Given the description of an element on the screen output the (x, y) to click on. 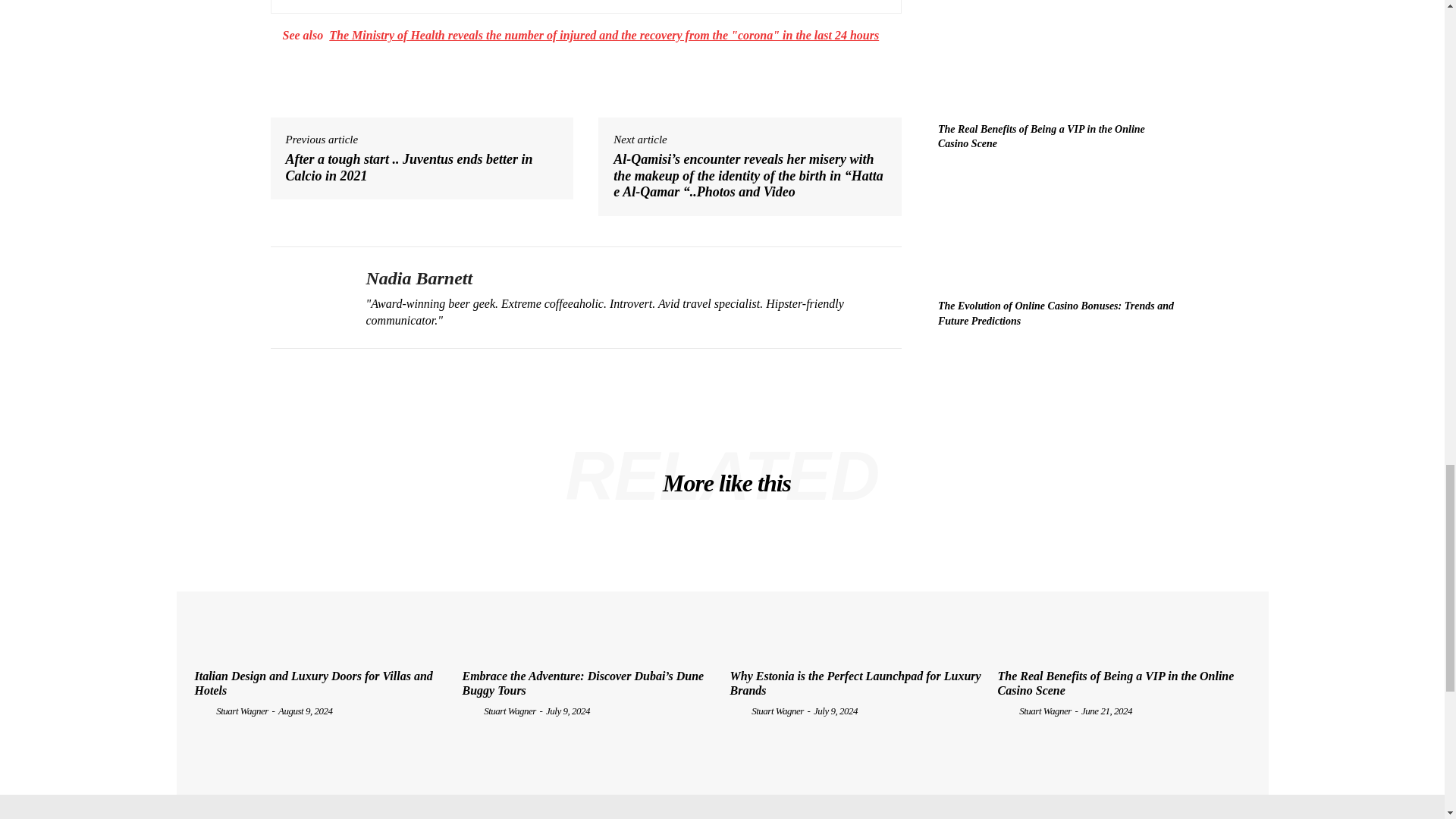
The Real Benefits of Being a VIP in the Online Casino Scene (1040, 135)
The Real Benefits of Being a VIP in the Online Casino Scene (1055, 56)
Nadia Barnett (305, 297)
